Given the description of an element on the screen output the (x, y) to click on. 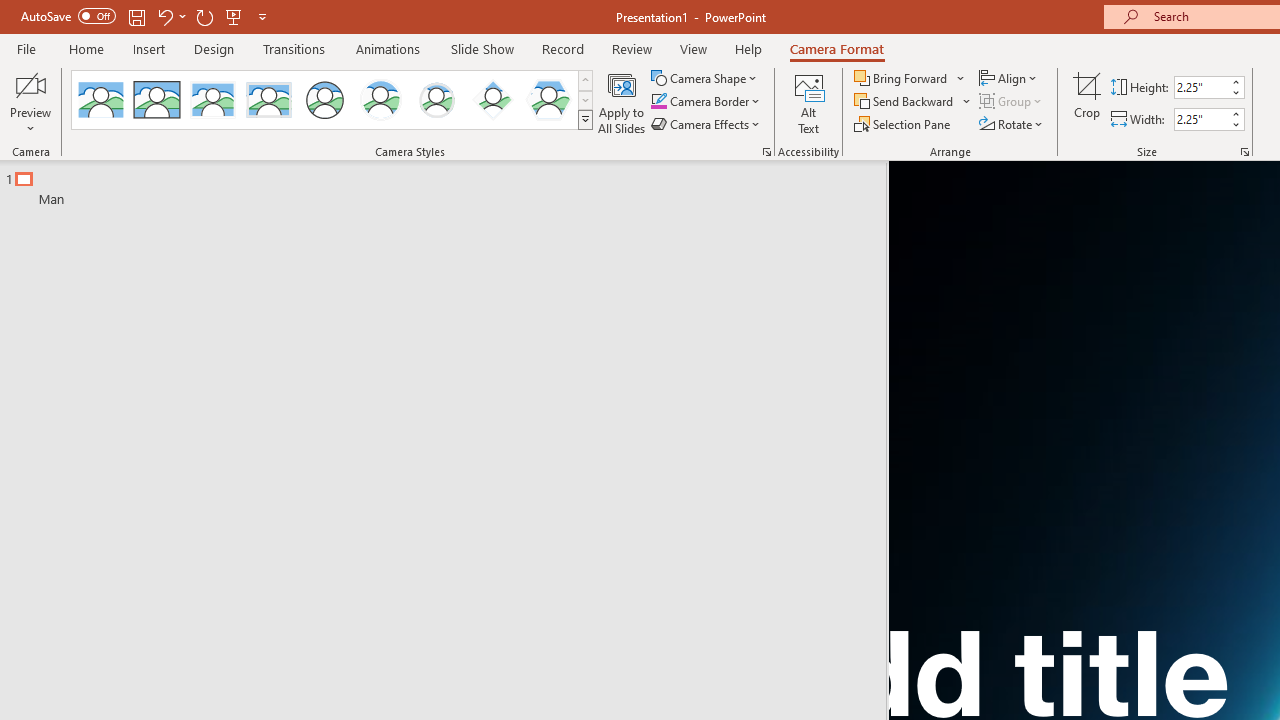
Center Shadow Hexagon (548, 100)
Camera Format (836, 48)
Center Shadow Rectangle (212, 100)
Camera Border Blue, Accent 1 (658, 101)
Crop (1087, 102)
Send Backward (905, 101)
No Style (100, 100)
